Given the description of an element on the screen output the (x, y) to click on. 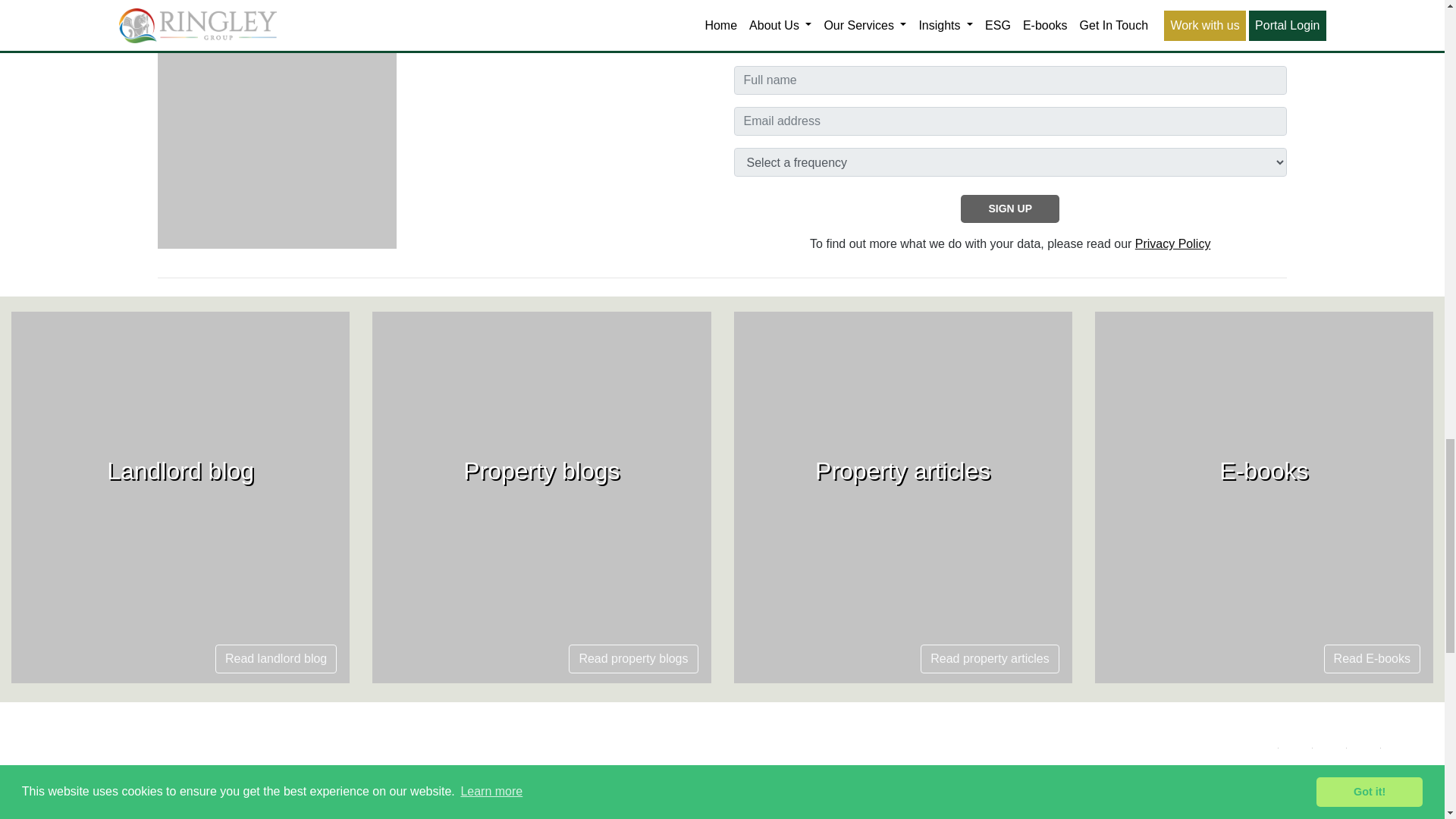
SIGN UP (1009, 208)
